Given the description of an element on the screen output the (x, y) to click on. 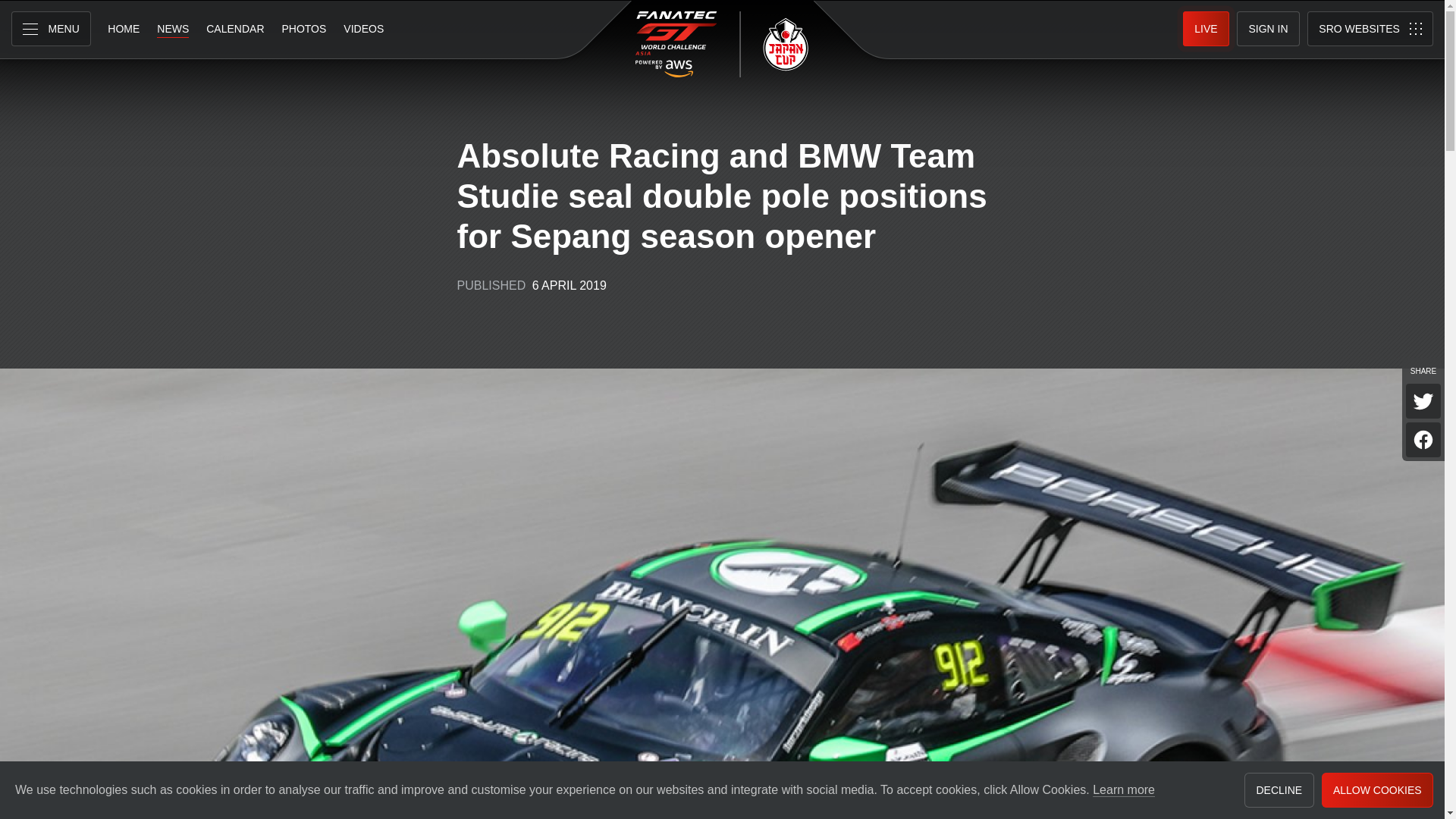
Learn more (1123, 790)
NEWS (172, 28)
PHOTOS (304, 28)
VIDEOS (363, 28)
DECLINE (1278, 790)
CALENDAR (234, 28)
ALLOW COOKIES (1377, 790)
MENU (50, 28)
HOME (123, 28)
